Given the description of an element on the screen output the (x, y) to click on. 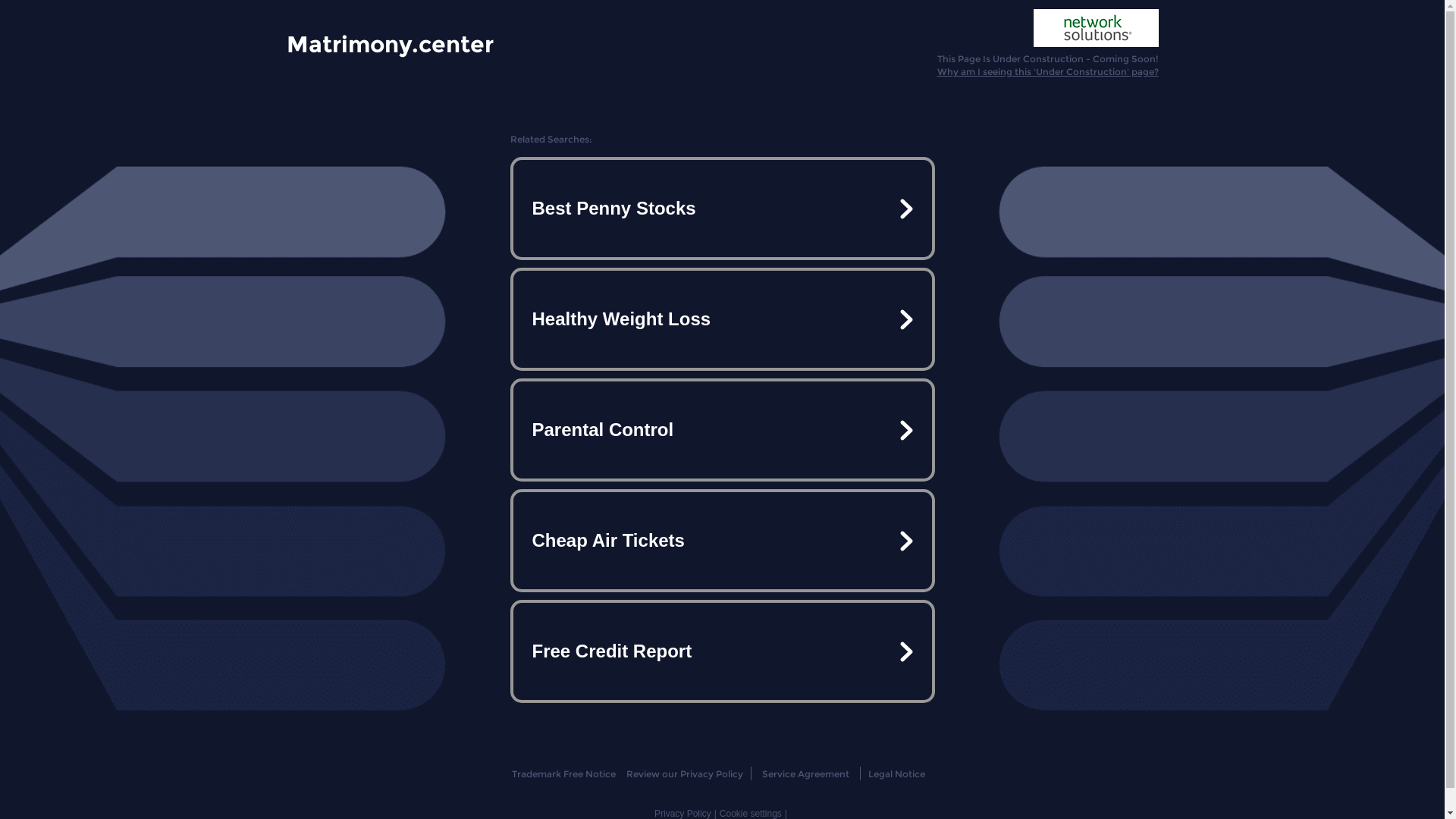
Matrimony.center Element type: text (389, 43)
Cheap Air Tickets Element type: text (721, 540)
Legal Notice Element type: text (896, 773)
Healthy Weight Loss Element type: text (721, 318)
Review our Privacy Policy Element type: text (684, 773)
Service Agreement Element type: text (805, 773)
Best Penny Stocks Element type: text (721, 208)
Free Credit Report Element type: text (721, 650)
Why am I seeing this 'Under Construction' page? Element type: text (1047, 71)
Parental Control Element type: text (721, 429)
Trademark Free Notice Element type: text (563, 773)
